Given the description of an element on the screen output the (x, y) to click on. 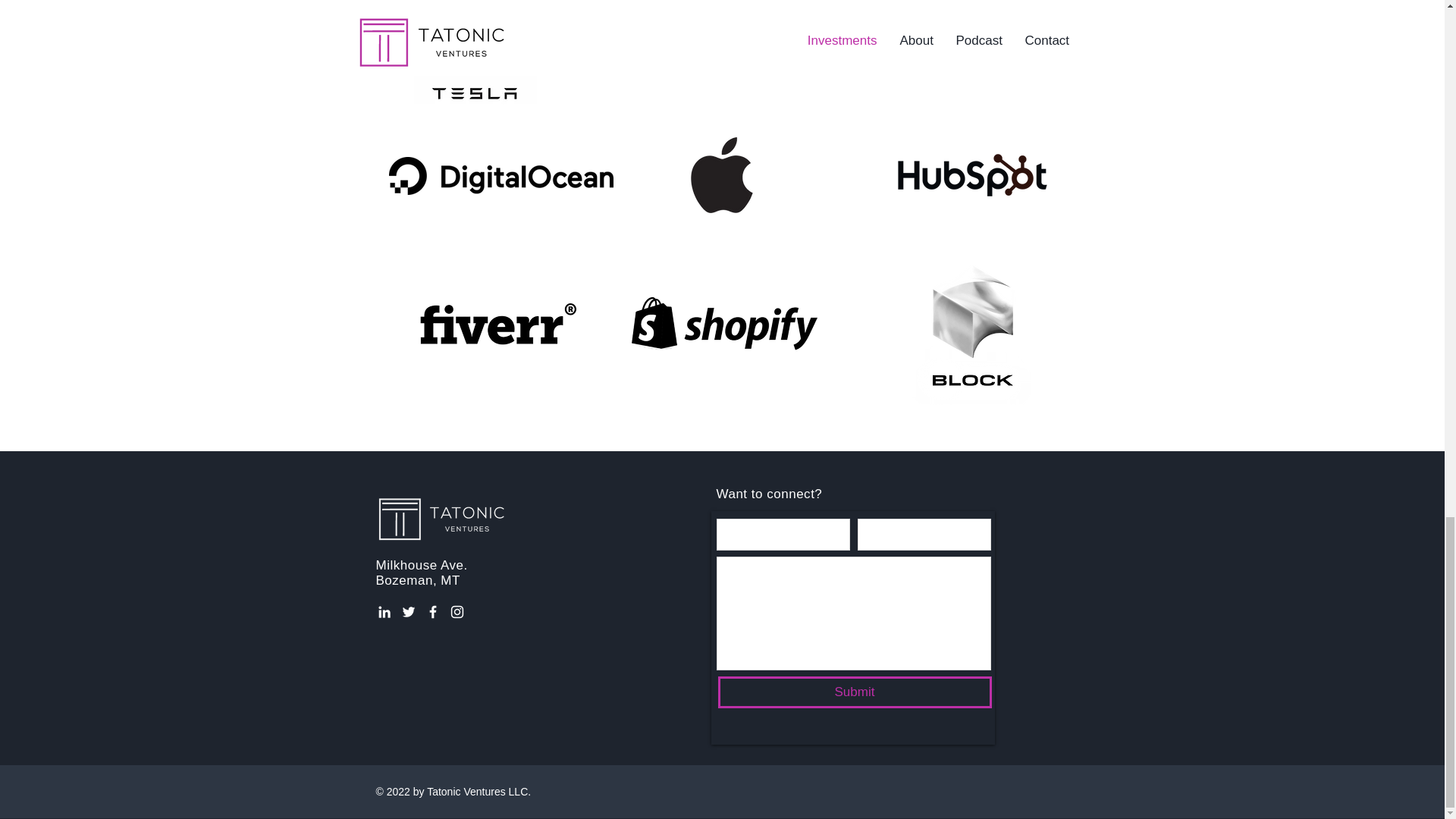
a0b3ab0a0abdd1755bb7864b34fcbfc5967206cf (973, 325)
Submit (854, 692)
